Given the description of an element on the screen output the (x, y) to click on. 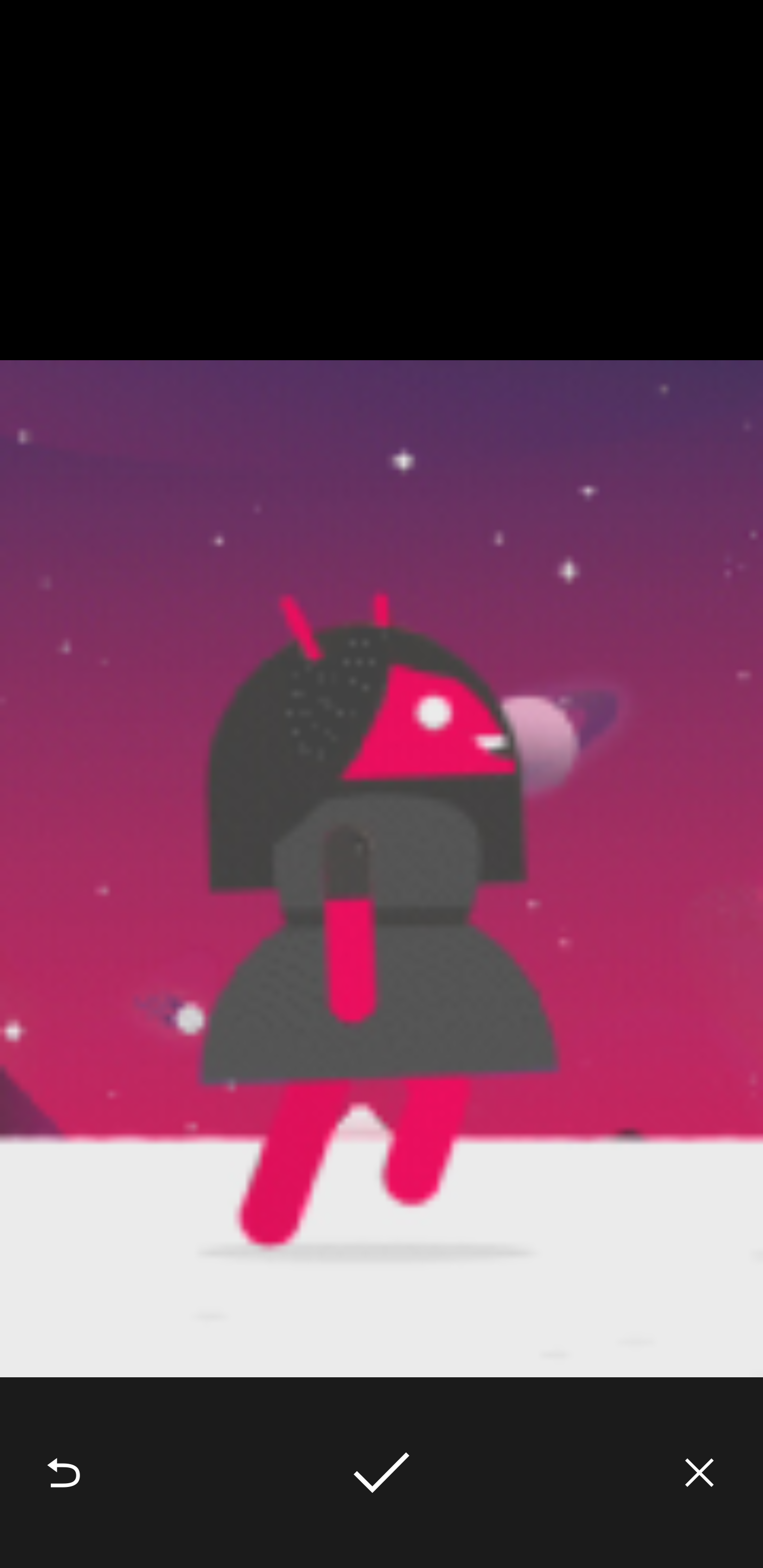
Done (381, 1472)
Retake (63, 1472)
Cancel (699, 1472)
